Given the description of an element on the screen output the (x, y) to click on. 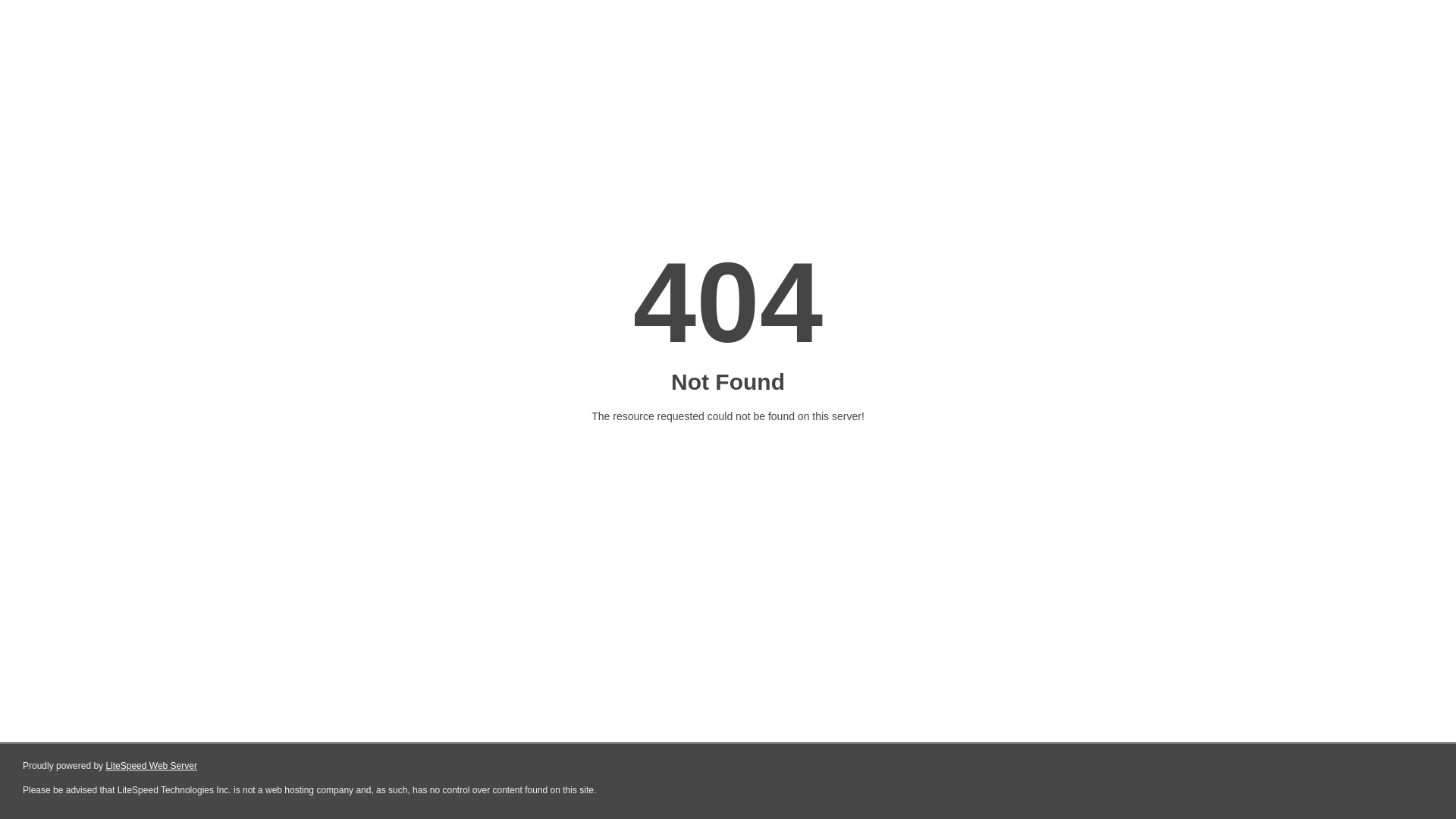
LiteSpeed Web Server Element type: text (151, 765)
